Given the description of an element on the screen output the (x, y) to click on. 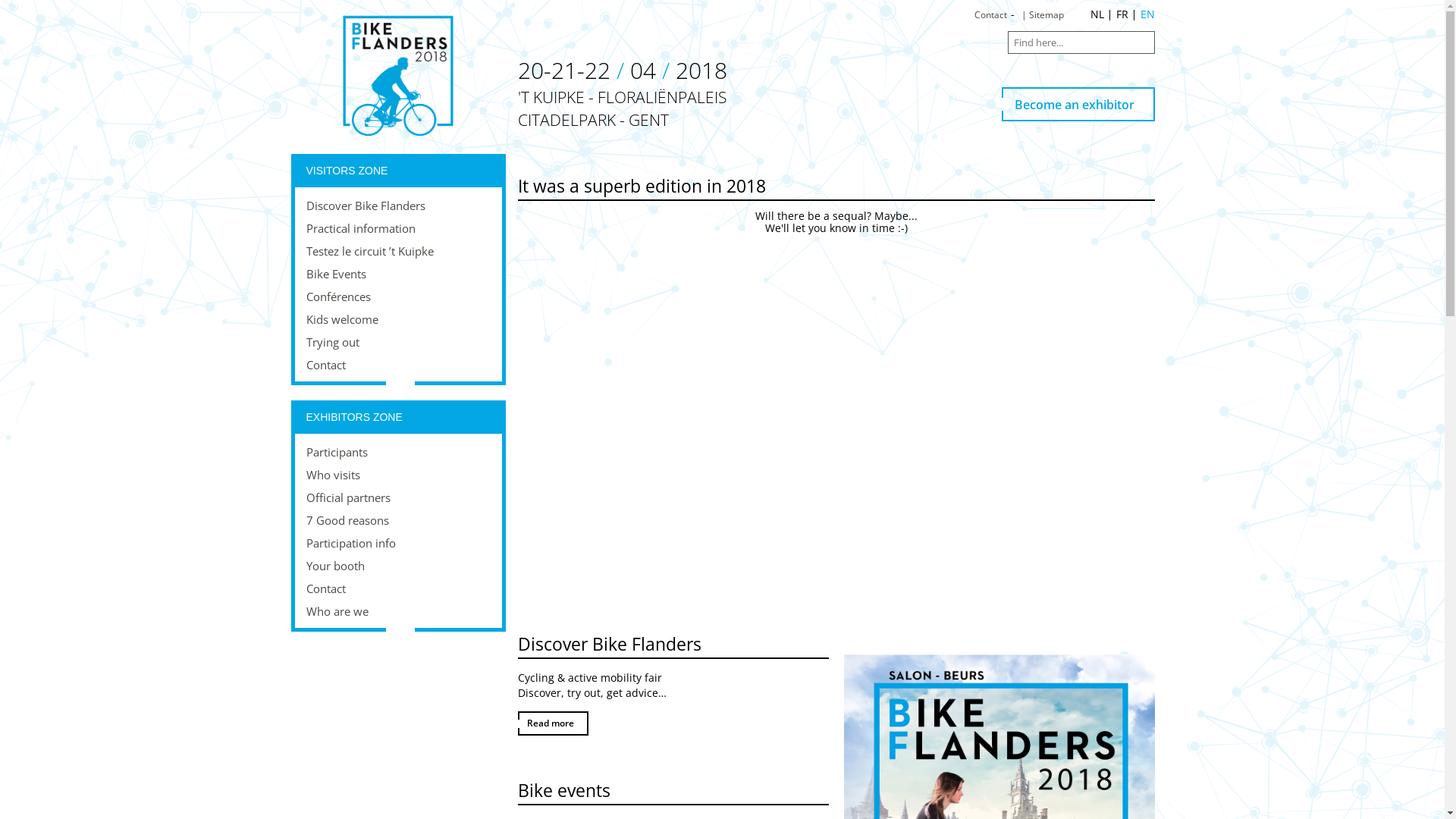
Contact Element type: text (990, 14)
EN Element type: text (1147, 14)
Participants Element type: text (397, 451)
FR Element type: text (1122, 14)
Contact Element type: text (397, 364)
Read more Element type: text (552, 723)
Participation info Element type: text (397, 542)
Kids welcome Element type: text (397, 318)
NL Element type: text (1097, 14)
Official partners Element type: text (397, 497)
Contact Element type: text (397, 588)
Who visits Element type: text (397, 474)
Who are we Element type: text (397, 610)
| Sitemap Element type: text (1042, 14)
Trying out Element type: text (397, 341)
Practical information Element type: text (397, 227)
Your booth Element type: text (397, 565)
Bike Flanders Element type: text (397, 74)
Bike Events Element type: text (397, 273)
7 Good reasons Element type: text (397, 519)
Discover Bike Flanders Element type: text (397, 205)
Become an exhibitor Element type: text (1077, 104)
